Given the description of an element on the screen output the (x, y) to click on. 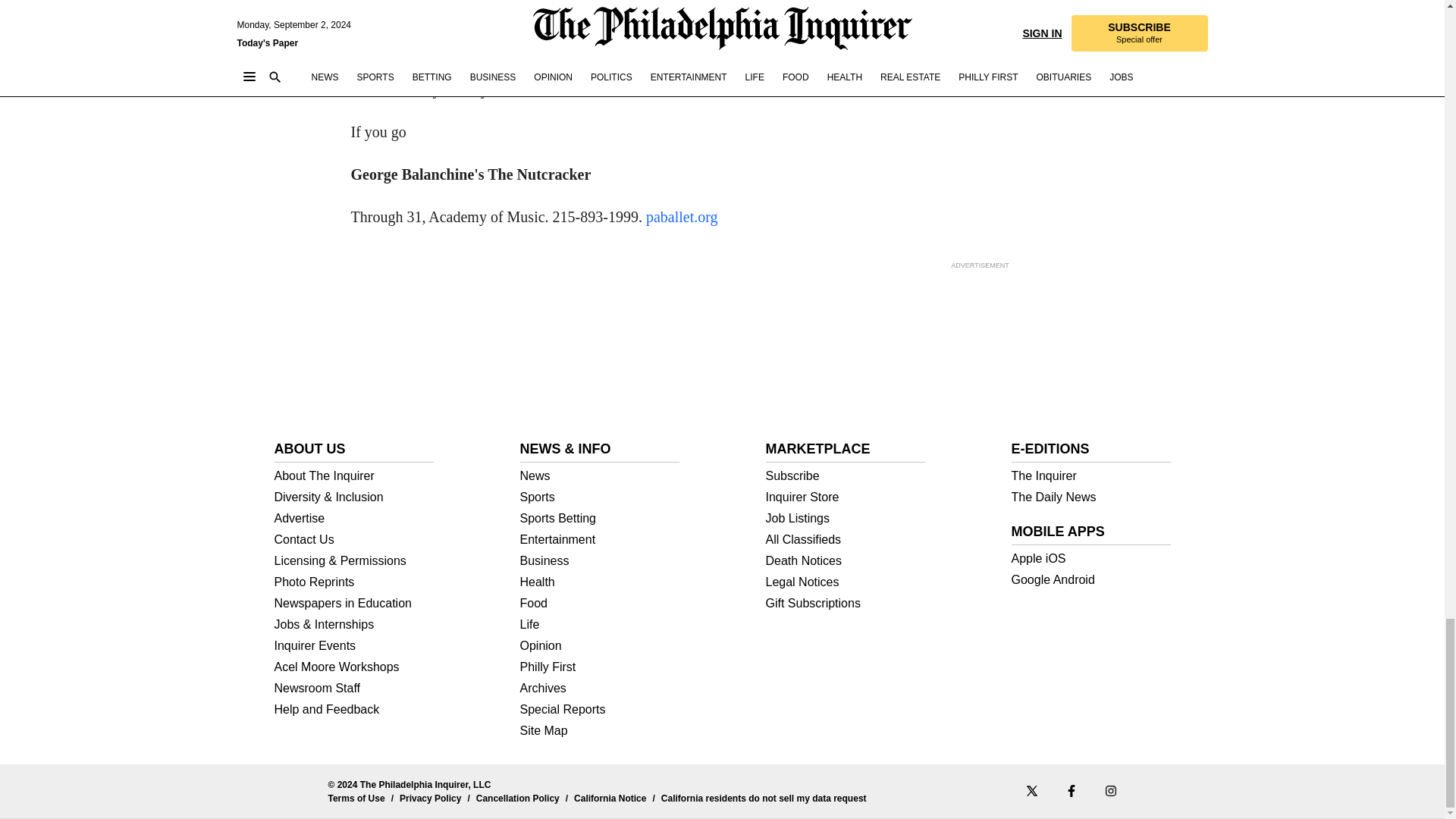
Instagram (1109, 790)
X (1030, 790)
About The Inquirer (354, 476)
paballet.org (681, 216)
Facebook (1070, 790)
